Given the description of an element on the screen output the (x, y) to click on. 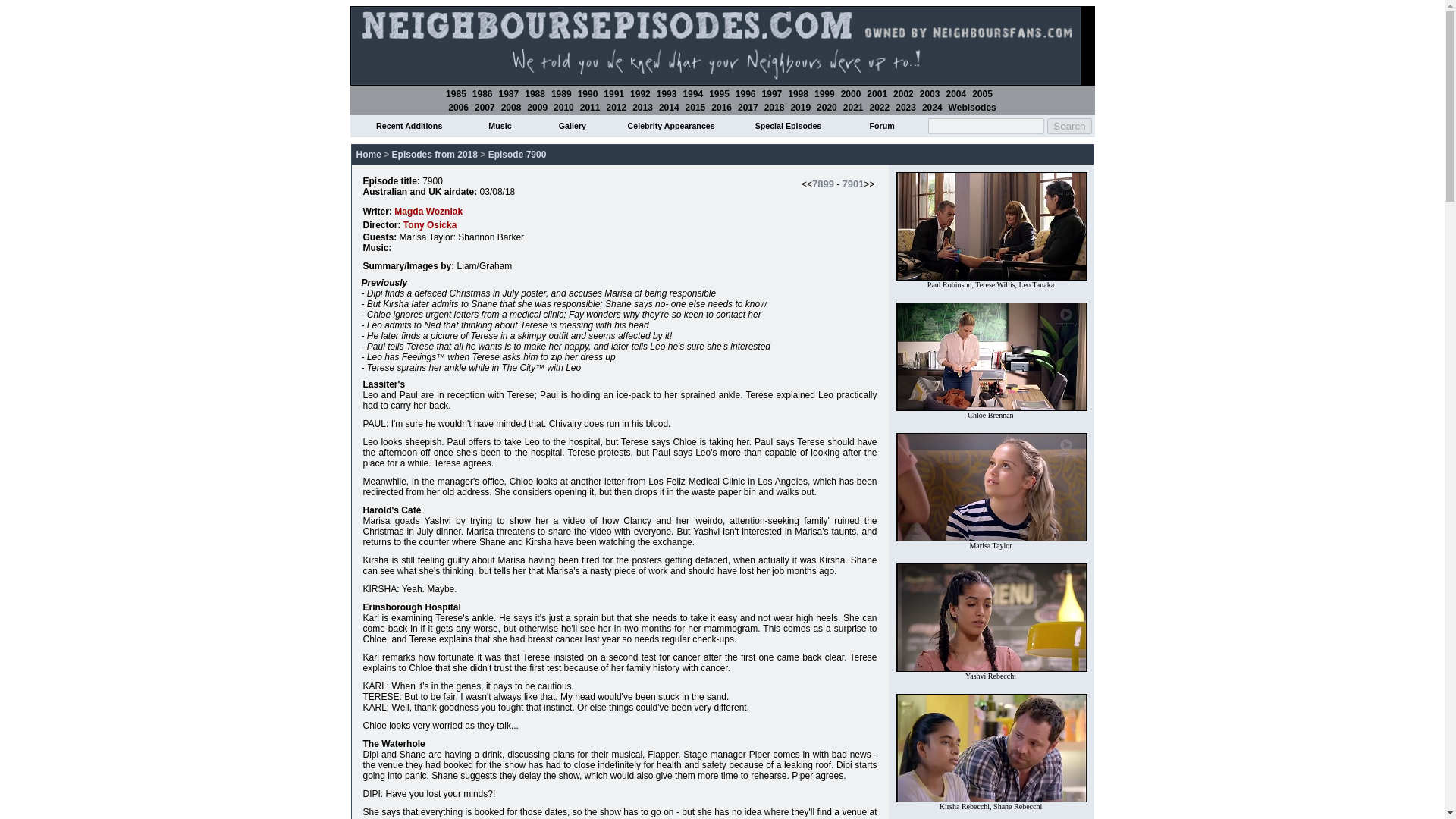
2023 (905, 107)
2014 (669, 107)
1989 (561, 93)
2000 (851, 93)
1999 (823, 93)
2002 (903, 93)
1994 (692, 93)
2008 (510, 107)
1995 (719, 93)
2017 (748, 107)
